Given the description of an element on the screen output the (x, y) to click on. 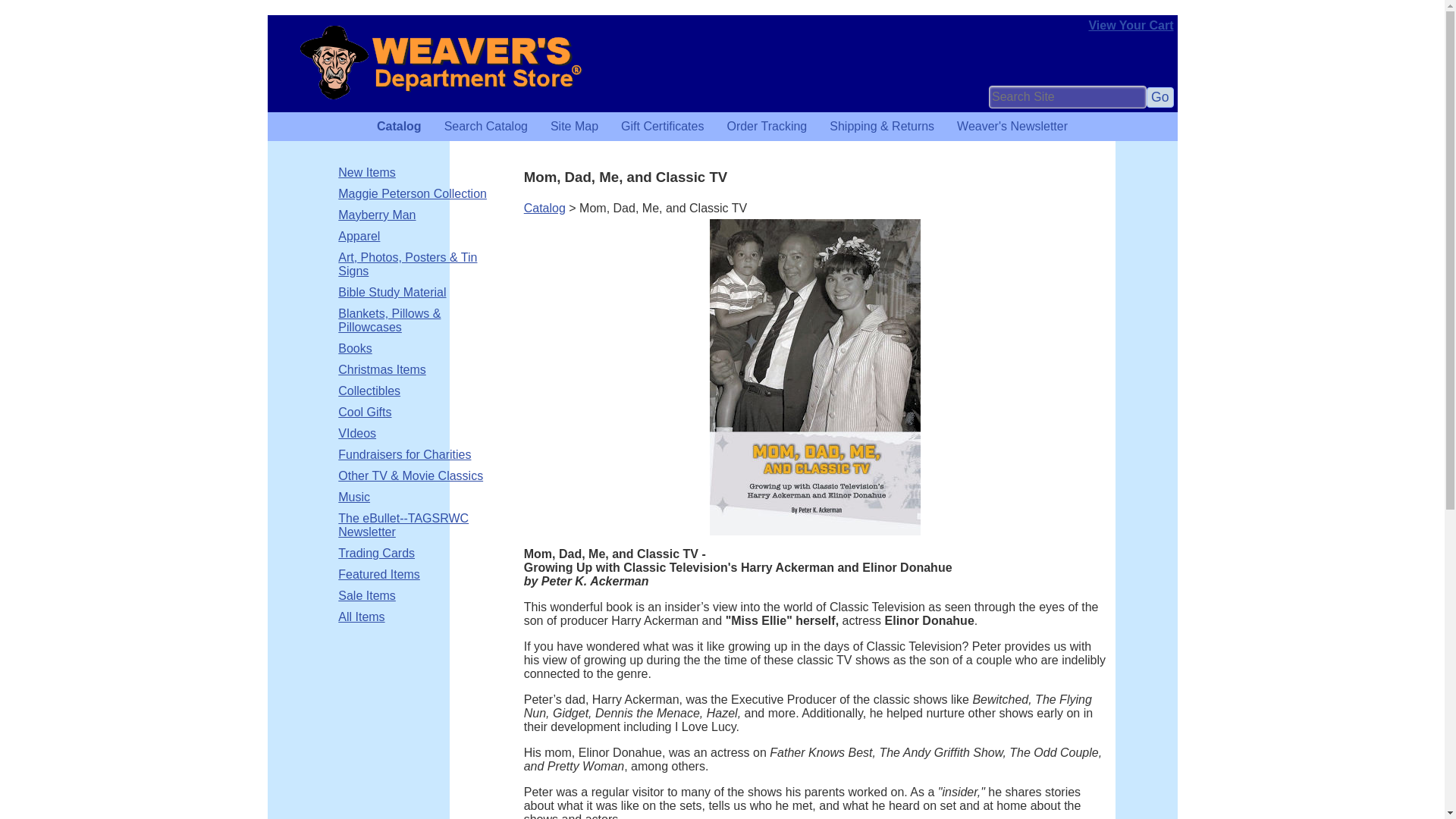
Catalog (545, 207)
The eBullet--TAGSRWC Newsletter (419, 524)
Go (1160, 96)
All Items (360, 617)
Books (354, 348)
Trading Cards (375, 553)
Featured Items (378, 574)
New Items (366, 172)
View Your Cart (1130, 24)
Fundraisers for Charities (403, 454)
